Given the description of an element on the screen output the (x, y) to click on. 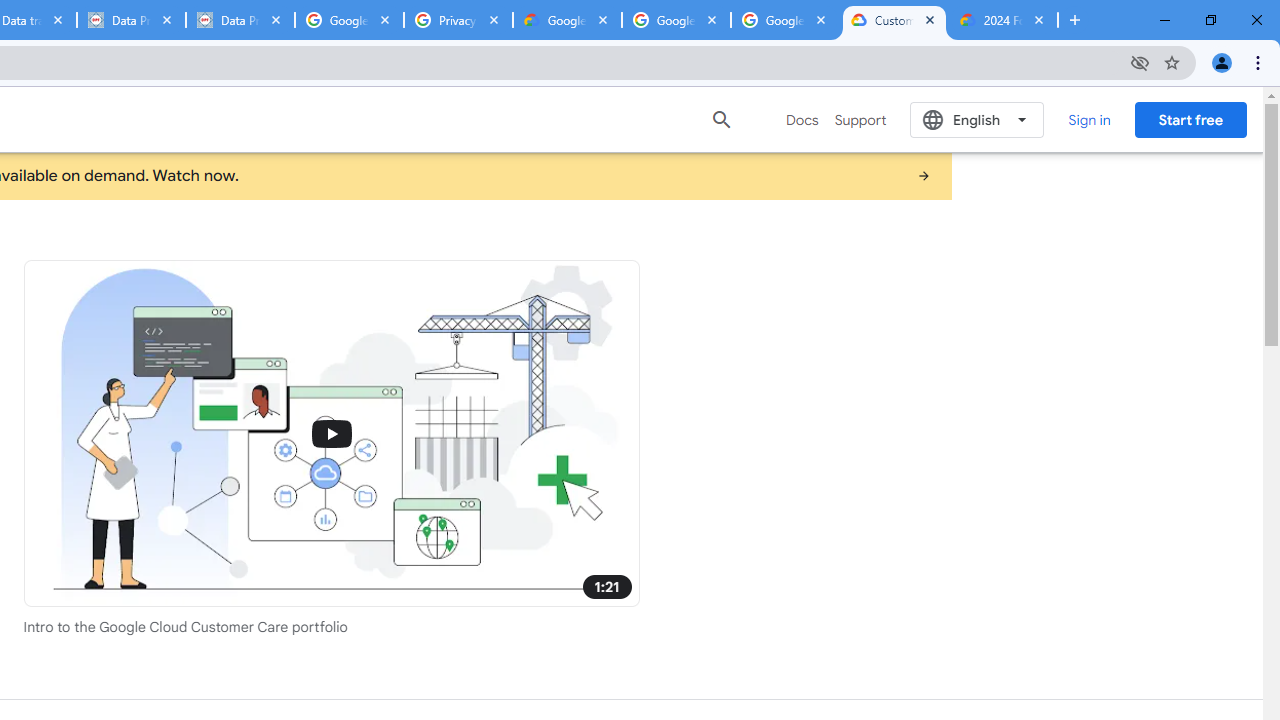
Support illustration (331, 432)
Data Privacy Framework (240, 20)
Support (860, 119)
Customer Care | Google Cloud (893, 20)
Google Workspace - Specific Terms (784, 20)
